Given the description of an element on the screen output the (x, y) to click on. 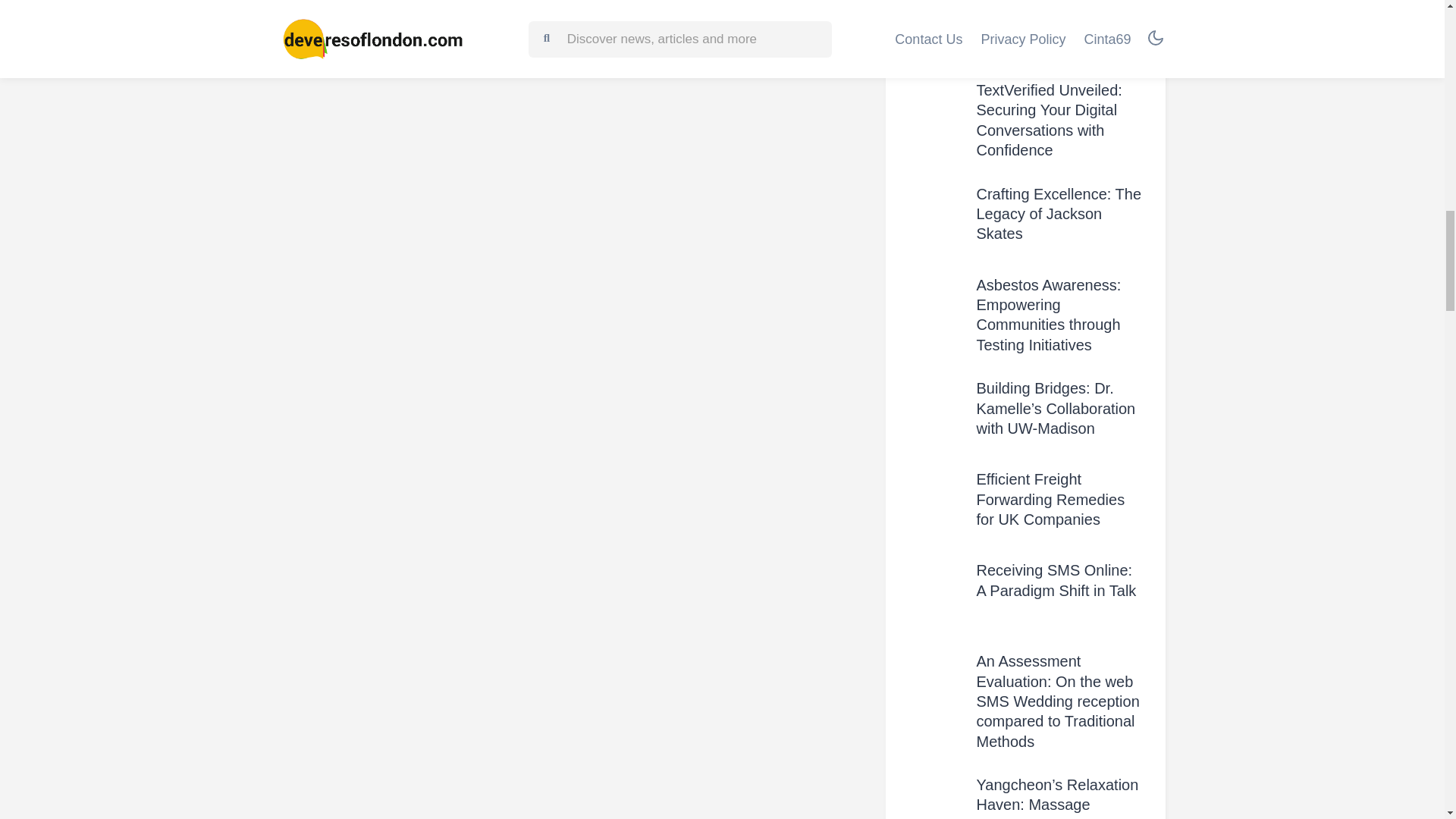
Dreams on Ice: Enchanting Figure Skating Dress Styles (1046, 23)
